Given the description of an element on the screen output the (x, y) to click on. 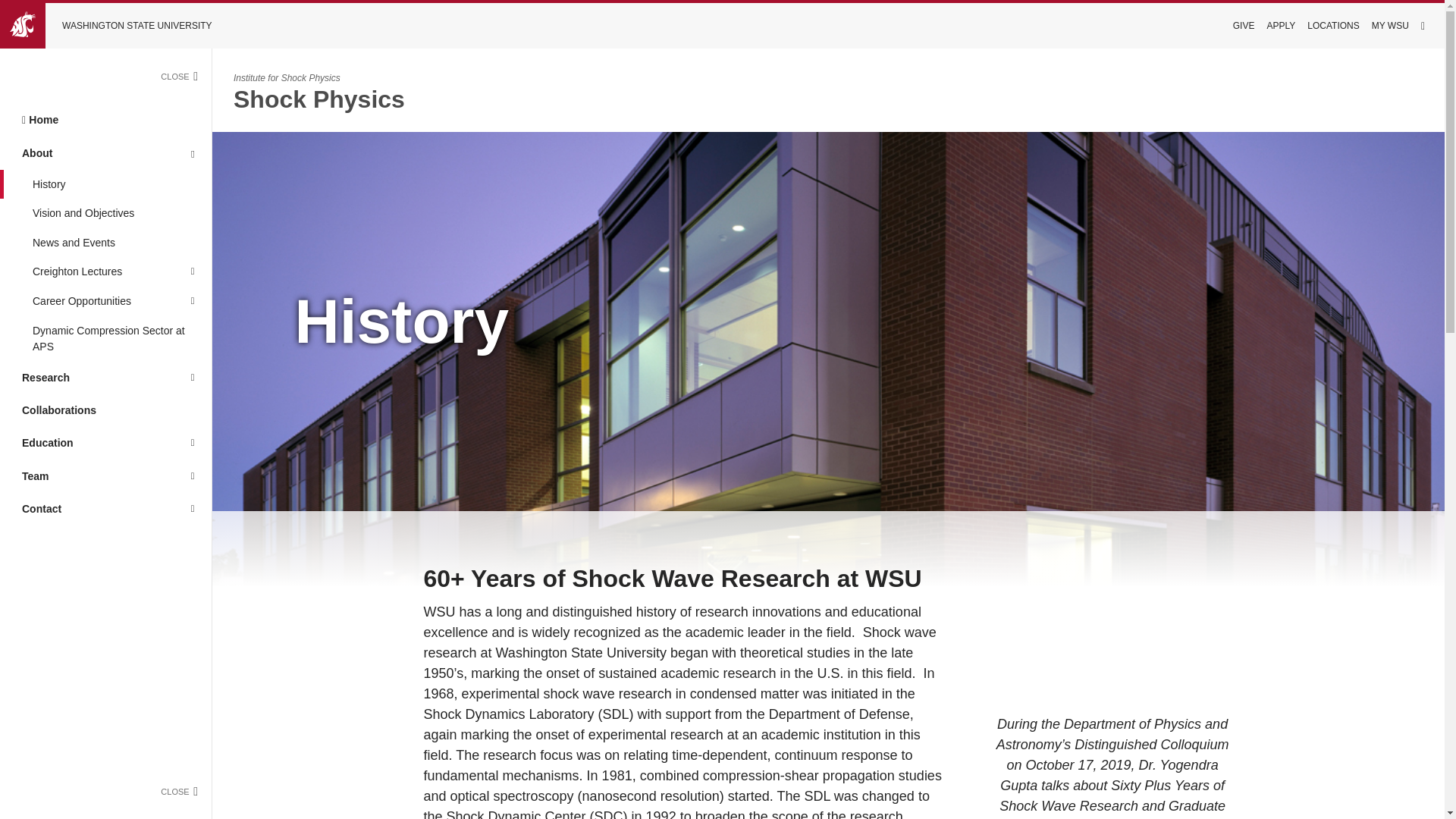
Dynamic Compression Sector at APS (105, 338)
Home (105, 120)
News and Events (105, 242)
About (86, 152)
History (105, 184)
Vision and Objectives (105, 213)
LOCATIONS (1332, 25)
Research (86, 377)
CLOSE (185, 76)
WASHINGTON STATE UNIVERSITY (117, 25)
